Given the description of an element on the screen output the (x, y) to click on. 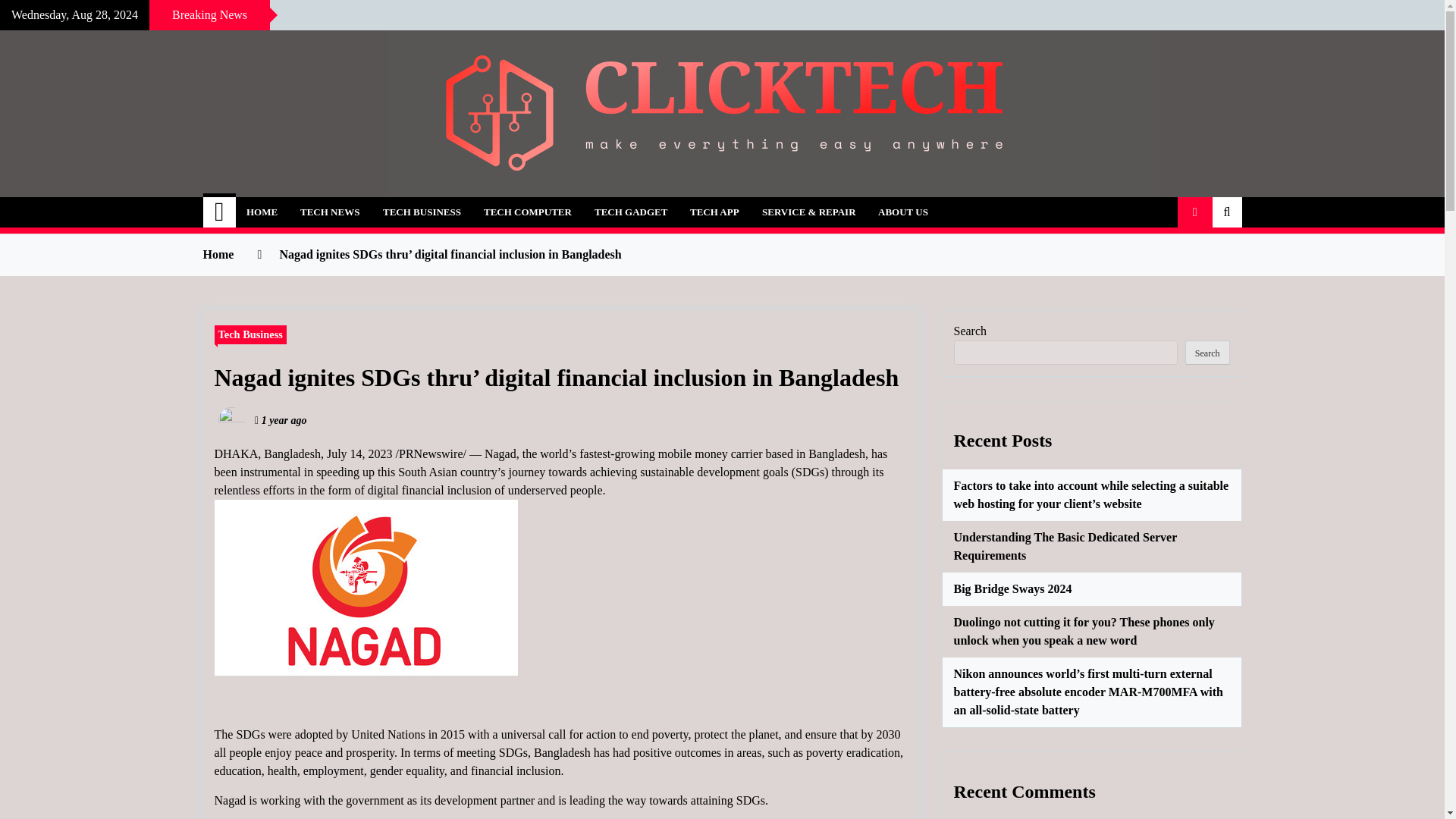
TECH APP (714, 212)
TECH GADGET (630, 212)
TECH BUSINESS (421, 212)
Click For Tech (311, 203)
Home (219, 212)
TECH COMPUTER (527, 212)
HOME (261, 212)
ABOUT US (902, 212)
TECH NEWS (329, 212)
